Given the description of an element on the screen output the (x, y) to click on. 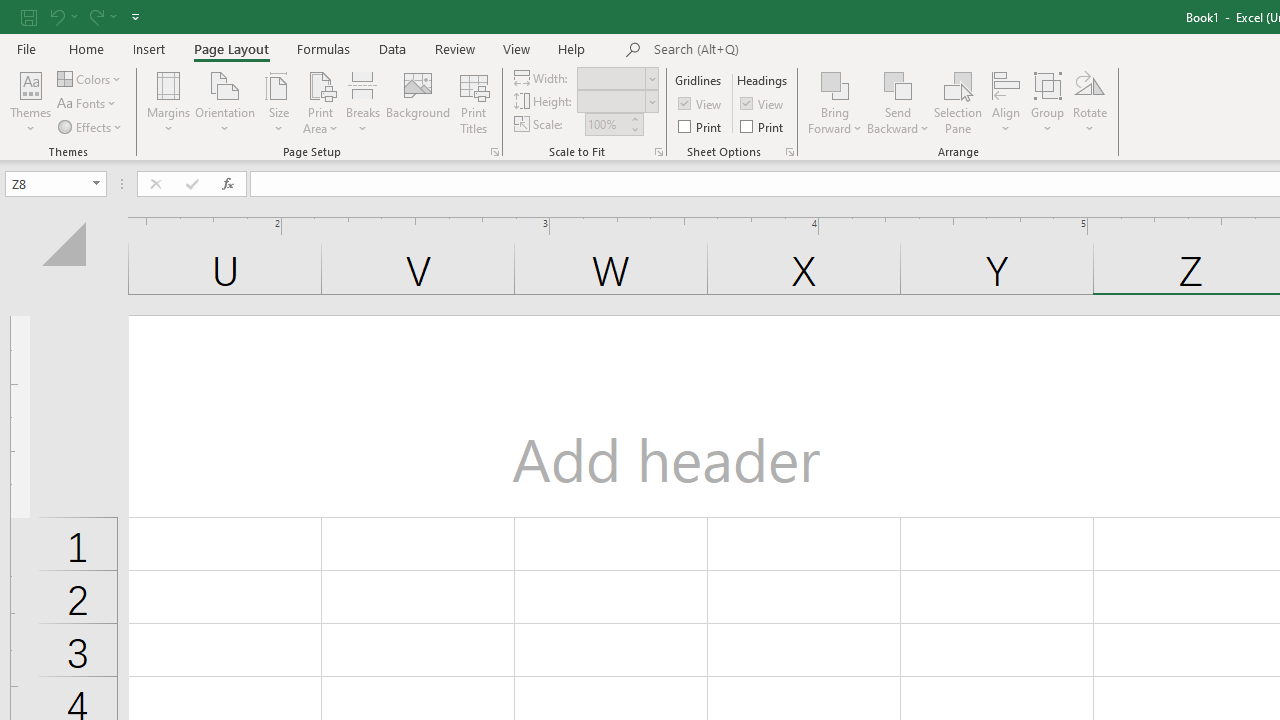
Width (611, 78)
Themes (30, 102)
Effects (91, 126)
Print Titles (474, 102)
Fonts (87, 103)
Bring Forward (835, 84)
Page Setup (658, 151)
Bring Forward (835, 102)
Sheet Options (789, 151)
Background... (418, 102)
